Given the description of an element on the screen output the (x, y) to click on. 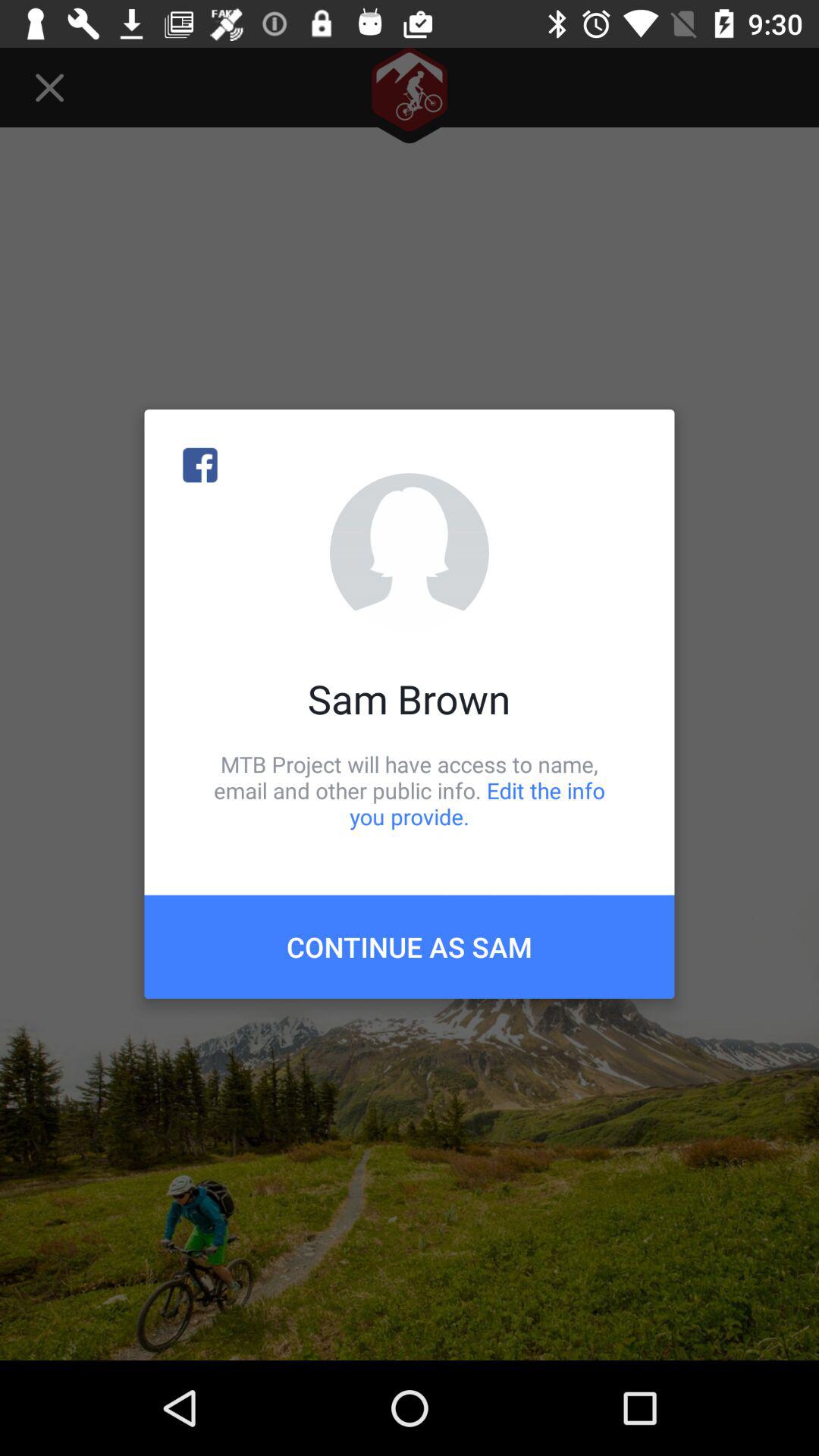
press icon below sam brown item (409, 790)
